Given the description of an element on the screen output the (x, y) to click on. 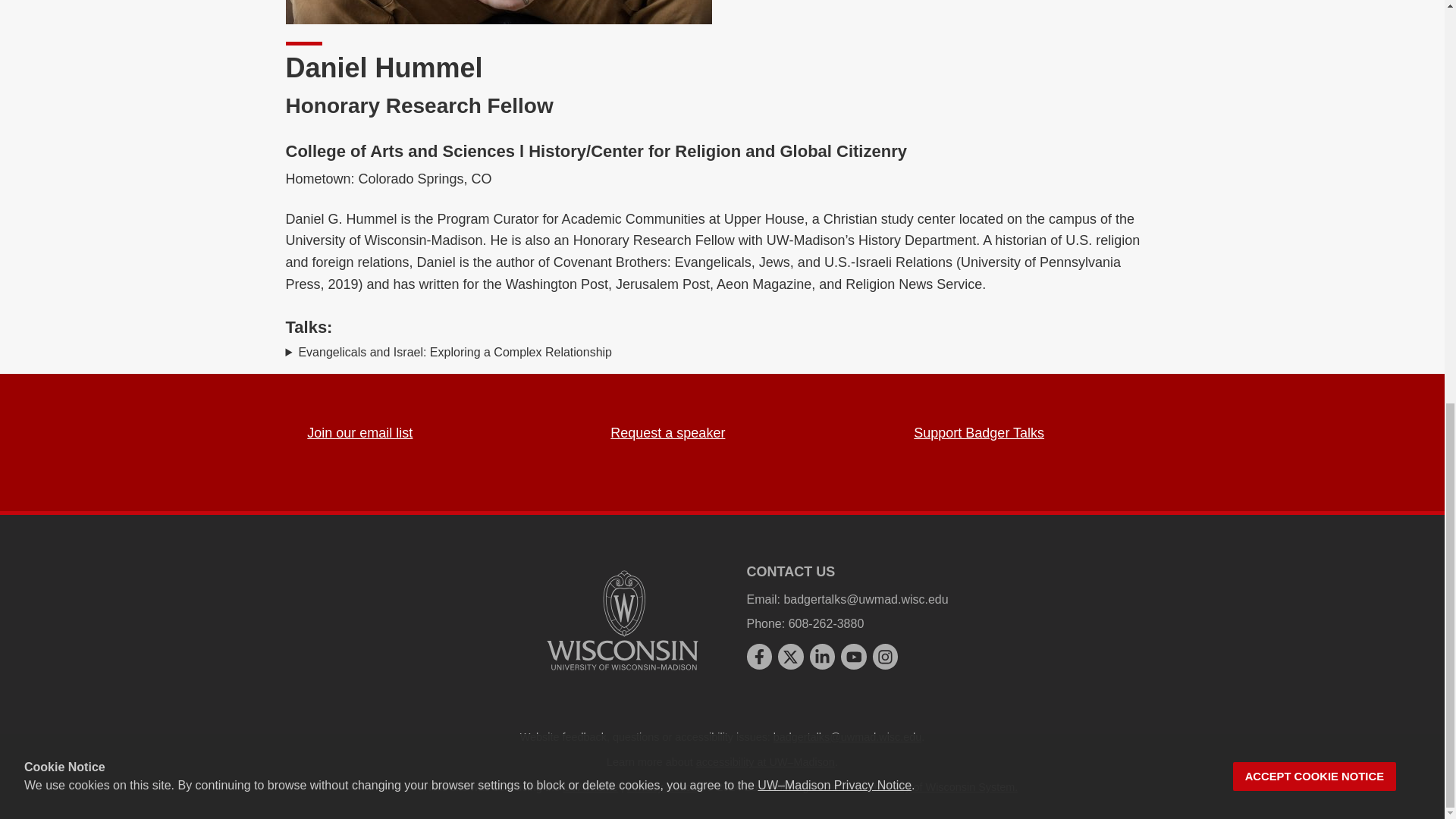
facebook (759, 657)
youtube (853, 656)
Join our email list (359, 432)
608-262-3880 (826, 623)
facebook (758, 656)
Support Badger Talks (978, 432)
linkedin (821, 657)
x twitter (790, 656)
linkedin (822, 656)
University of Wisconsin System. (939, 787)
youtube (853, 657)
UW Theme (590, 787)
Request a speaker (667, 432)
University logo that links to main university website (621, 620)
x twitter (790, 657)
